Given the description of an element on the screen output the (x, y) to click on. 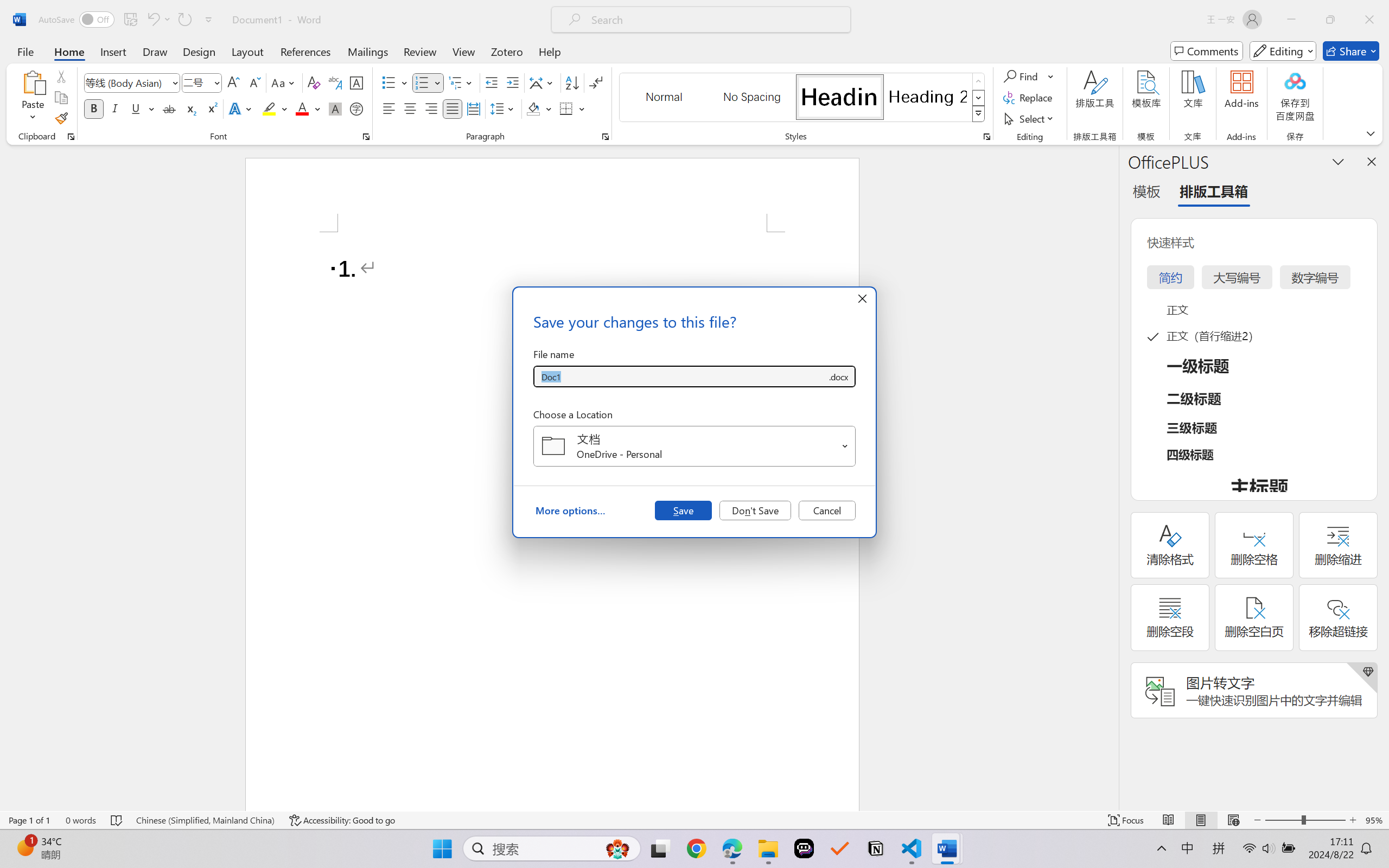
Zoom 95% (1374, 819)
